Given the description of an element on the screen output the (x, y) to click on. 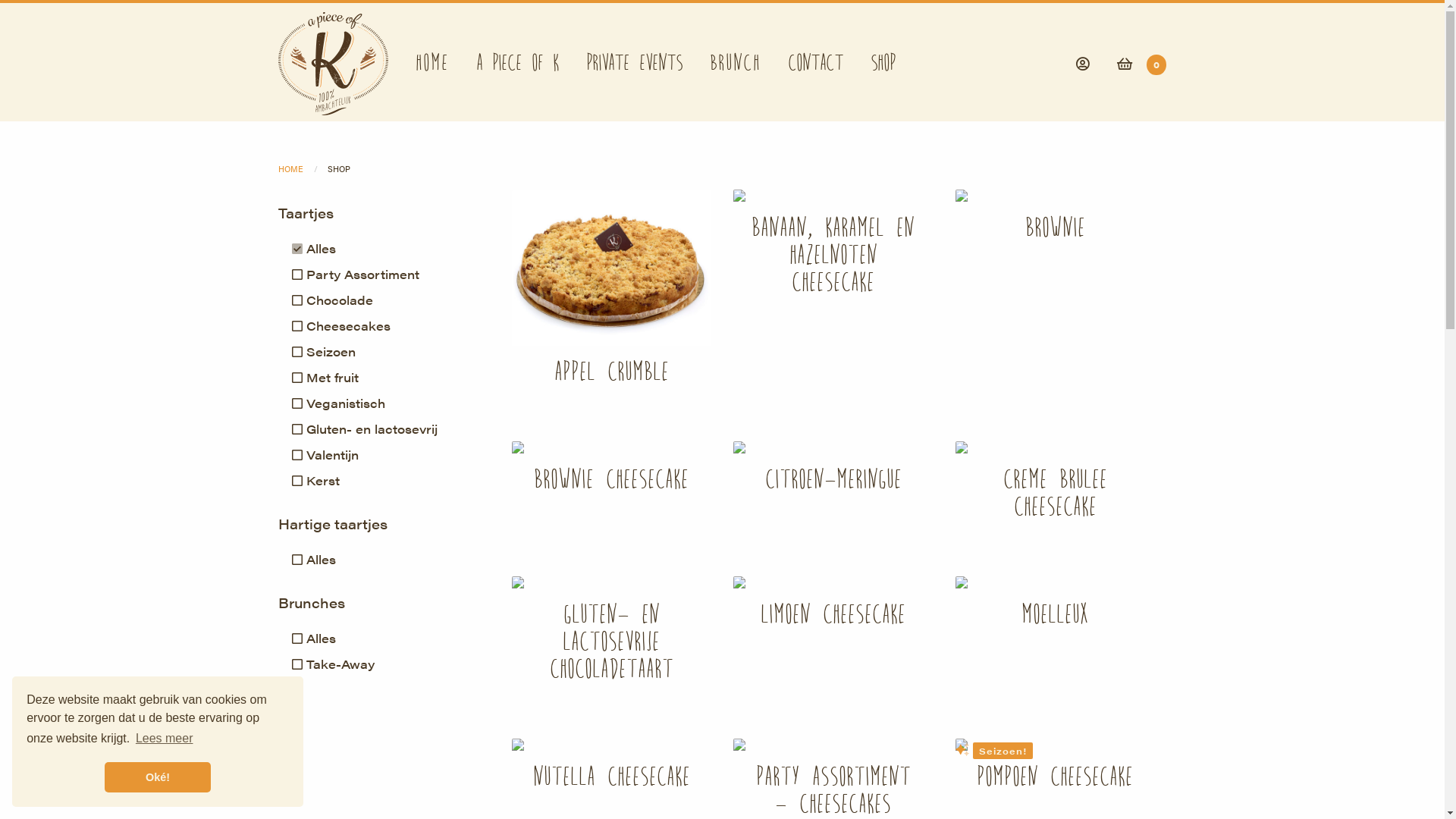
Moelleux Element type: text (1054, 609)
Party Assortiment Element type: text (389, 274)
Shop Element type: text (882, 63)
Pompoen cheesecake
Seizoen! Element type: text (1054, 771)
Lees meer Element type: text (164, 738)
Banaan, karamel en hazelnoten cheesecake Element type: text (832, 249)
Private events Element type: text (634, 63)
Kerst Element type: text (389, 480)
Gluten- en lactosevrije chocoladetaart Element type: text (611, 636)
Brownie Element type: text (1054, 222)
Brownie Cheesecake Element type: text (611, 474)
Creme Brulee Cheesecake Element type: text (1054, 488)
Limoen cheesecake Element type: text (832, 609)
Alles Element type: text (389, 248)
Valentijn Element type: text (389, 454)
Home Element type: text (431, 63)
Met fruit Element type: text (389, 377)
Citroen-Meringue Element type: text (832, 474)
Alles Element type: text (389, 559)
Veganistisch Element type: text (389, 403)
Chocolade Element type: text (389, 300)
Take-Away Element type: text (389, 664)
Gluten- en lactosevrij Element type: text (389, 429)
HOME Element type: text (290, 168)
A Piece of K Element type: text (517, 63)
Appel Crumble Element type: text (611, 294)
Alles Element type: text (389, 638)
Cheesecakes Element type: text (389, 326)
Brunch Element type: text (735, 63)
Nutella Cheesecake Element type: text (611, 771)
Contact Element type: text (815, 63)
Seizoen Element type: text (389, 351)
